Given the description of an element on the screen output the (x, y) to click on. 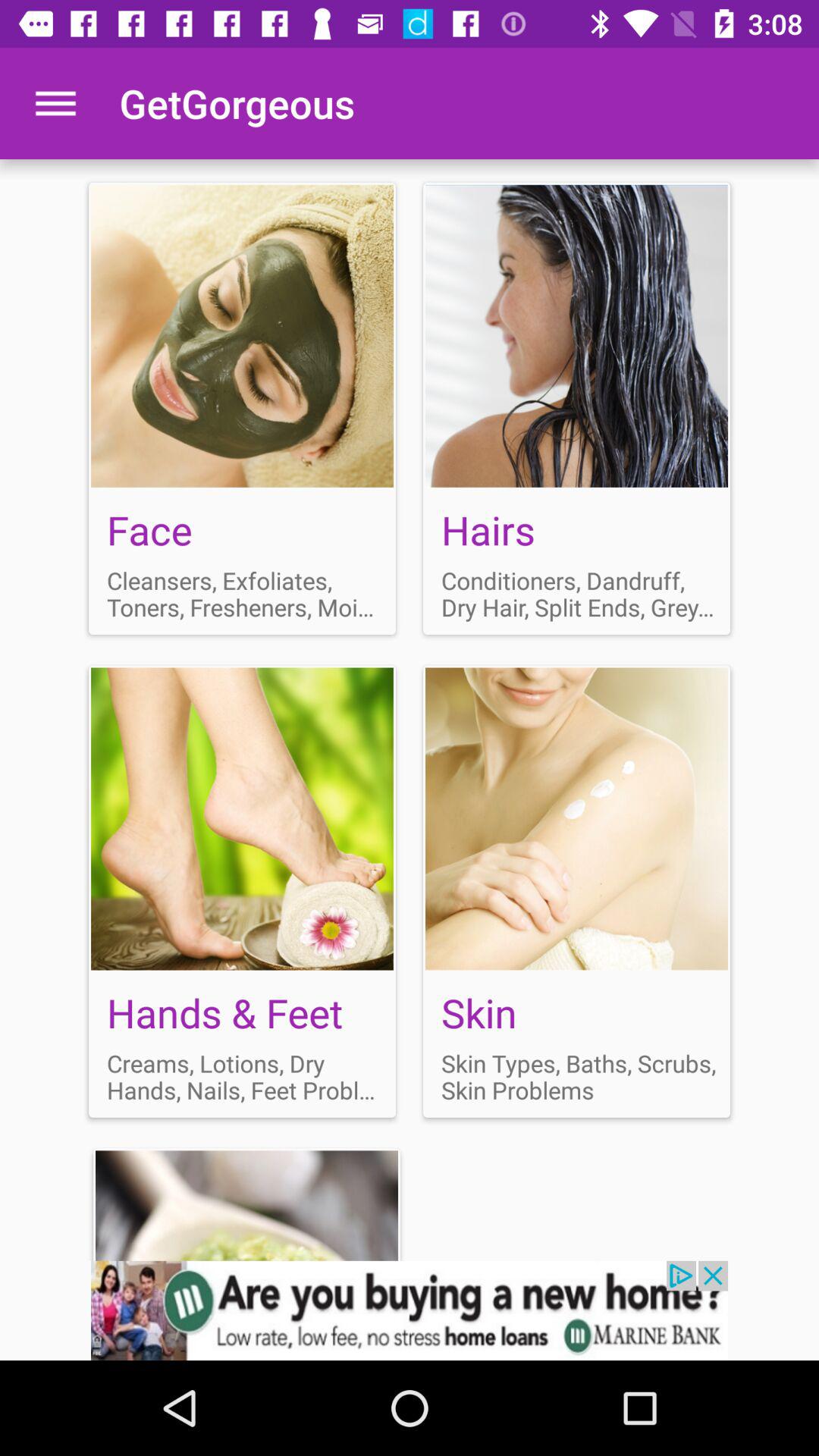
advertisement (242, 408)
